Given the description of an element on the screen output the (x, y) to click on. 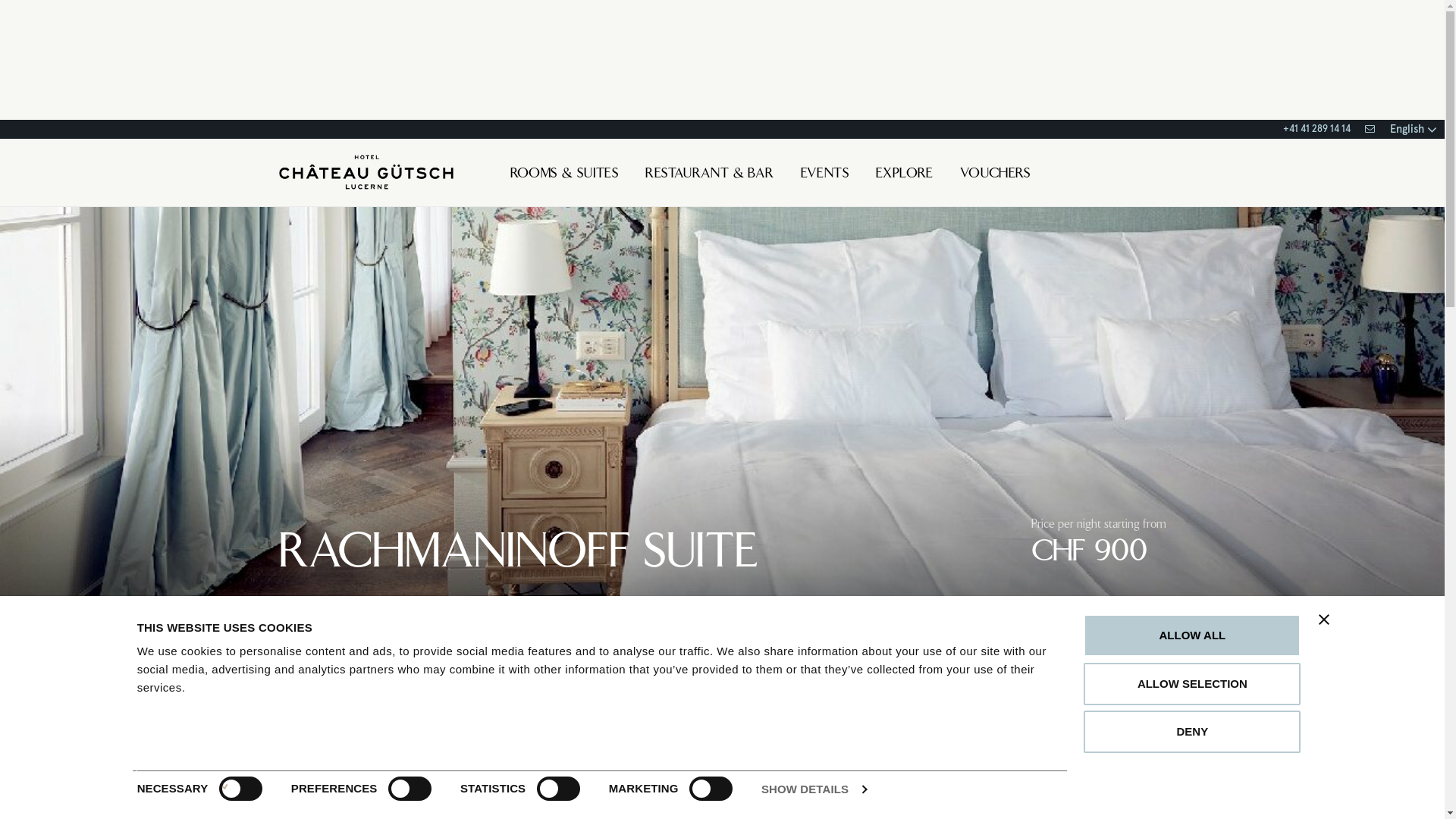
EVENTS Element type: text (824, 174)
ROOMS & SUITES Element type: text (563, 174)
ALLOW SELECTION Element type: text (1191, 683)
RESTAURANT & BAR Element type: text (709, 174)
SHOW DETAILS Element type: text (813, 789)
EXPLORE Element type: text (904, 174)
DENY Element type: text (1191, 731)
ALLOW ALL Element type: text (1191, 635)
+41 41 289 14 14 Element type: text (1316, 129)
VOUCHERS Element type: text (994, 174)
